Given the description of an element on the screen output the (x, y) to click on. 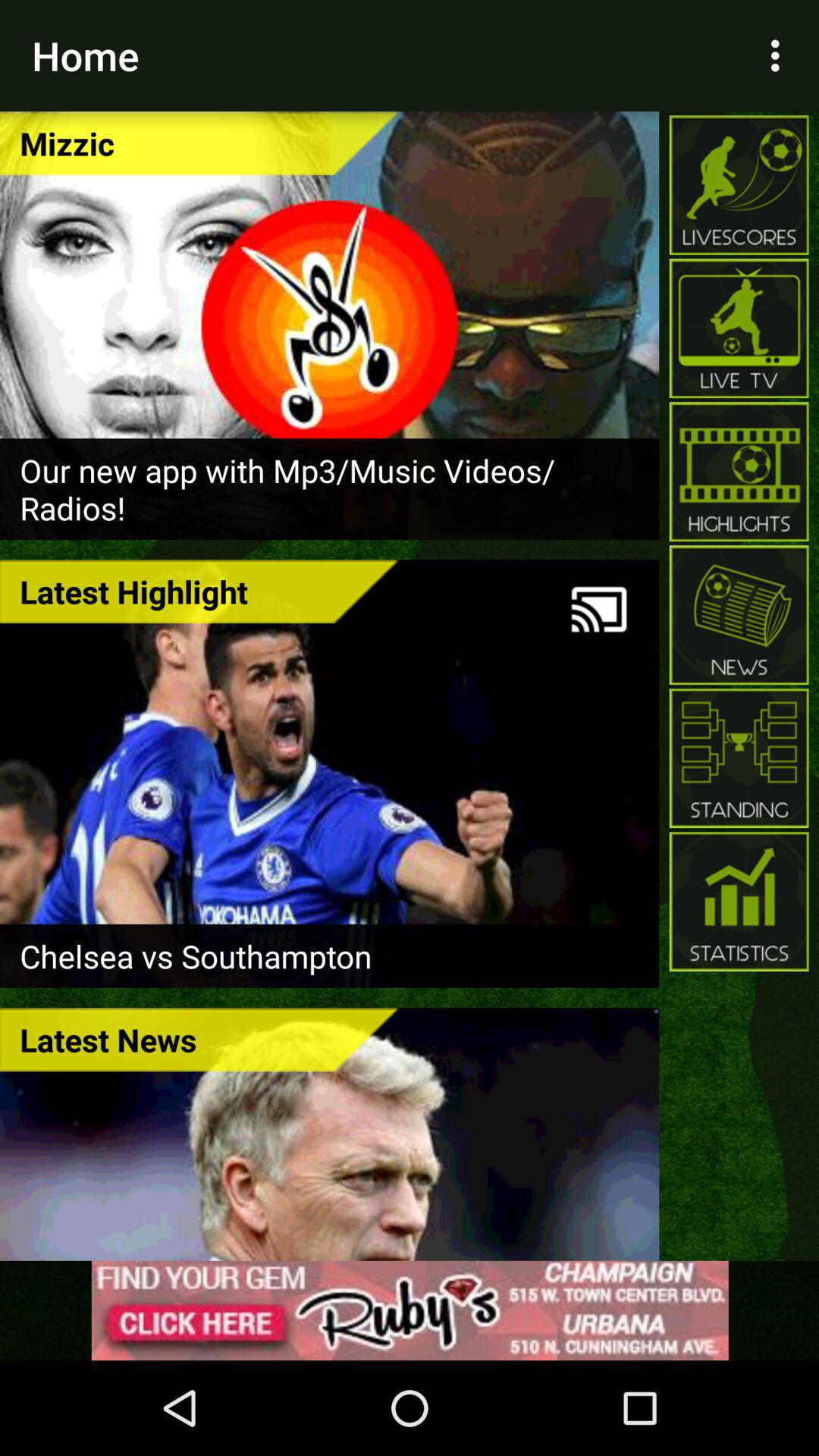
turn off icon to the right of the latest highlight icon (599, 609)
